Given the description of an element on the screen output the (x, y) to click on. 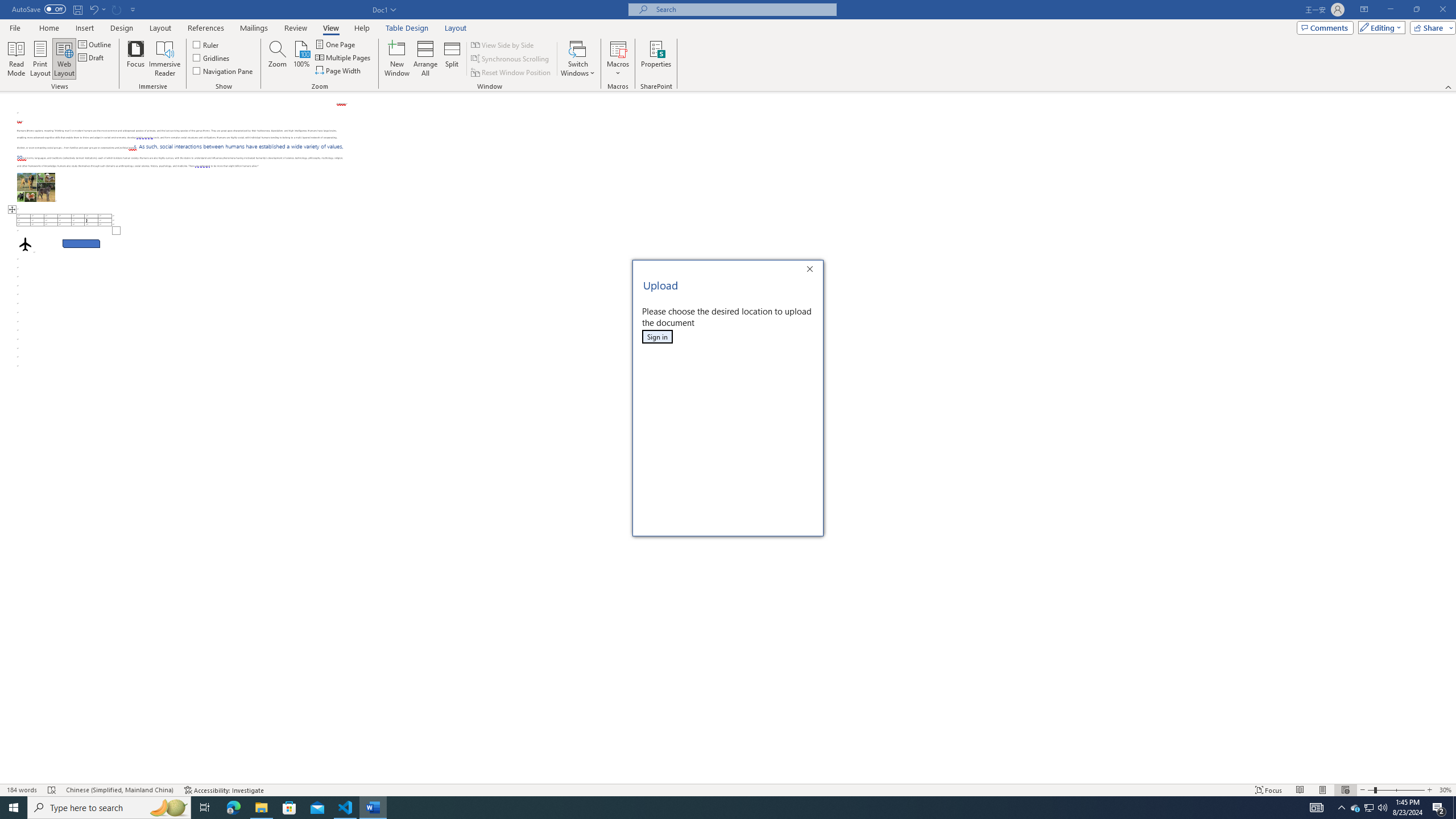
Rectangle: Diagonal Corners Snipped 2 (81, 243)
View Macros (617, 48)
